Given the description of an element on the screen output the (x, y) to click on. 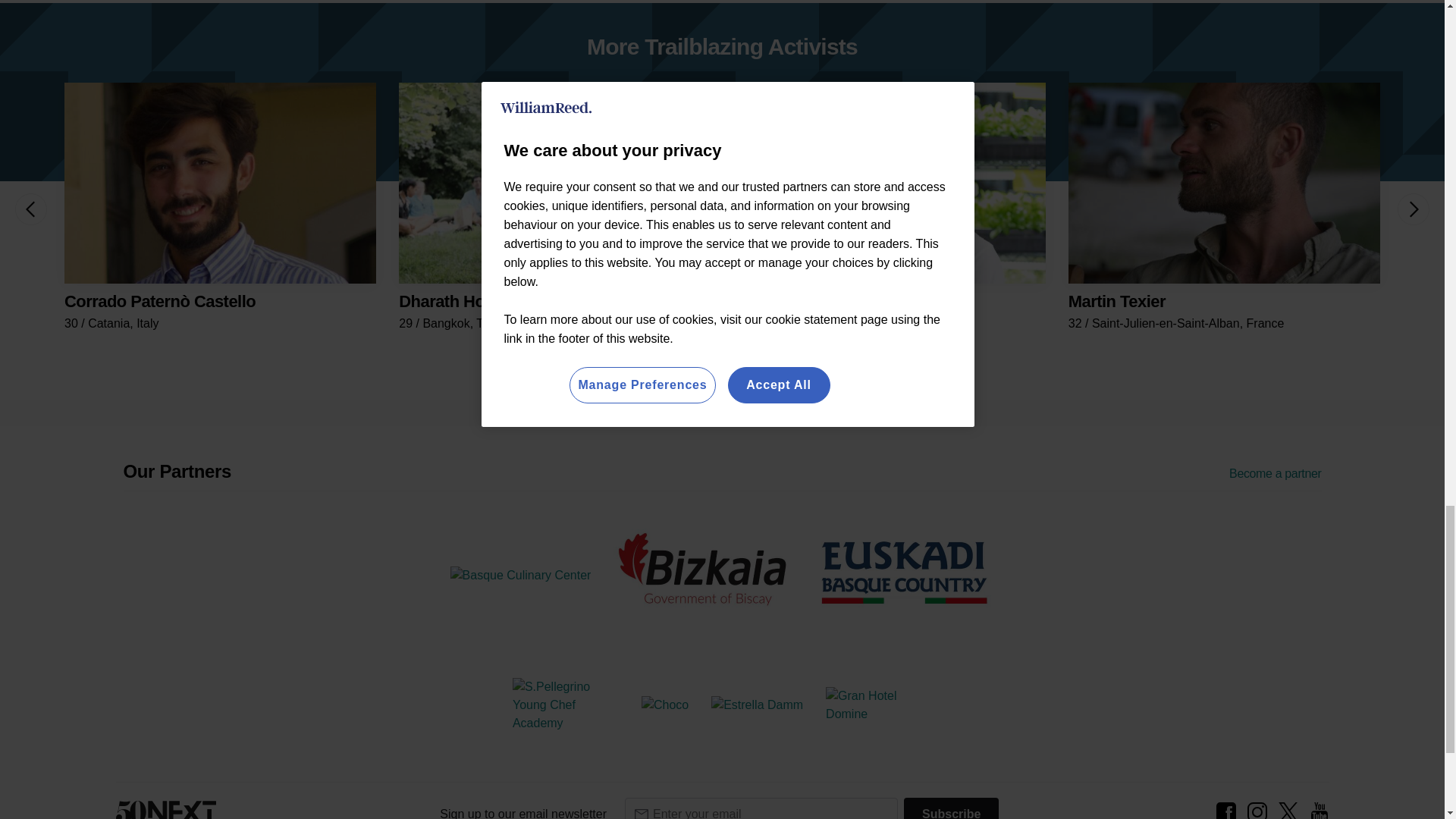
Choco  Official Partner of 50 Next (665, 705)
Biscay  50 Next Destination Partner (702, 572)
Euskadi Basque Country  50 Next Destination Partner (904, 572)
Basque Culinary Center  50 Next Academic Partner (520, 575)
Partners block (721, 469)
S.Pellegrino Young Chef Academy  Official Partner of 50 Next (565, 705)
Estrella Damm  Official Partner of 50 Next (757, 705)
